Given the description of an element on the screen output the (x, y) to click on. 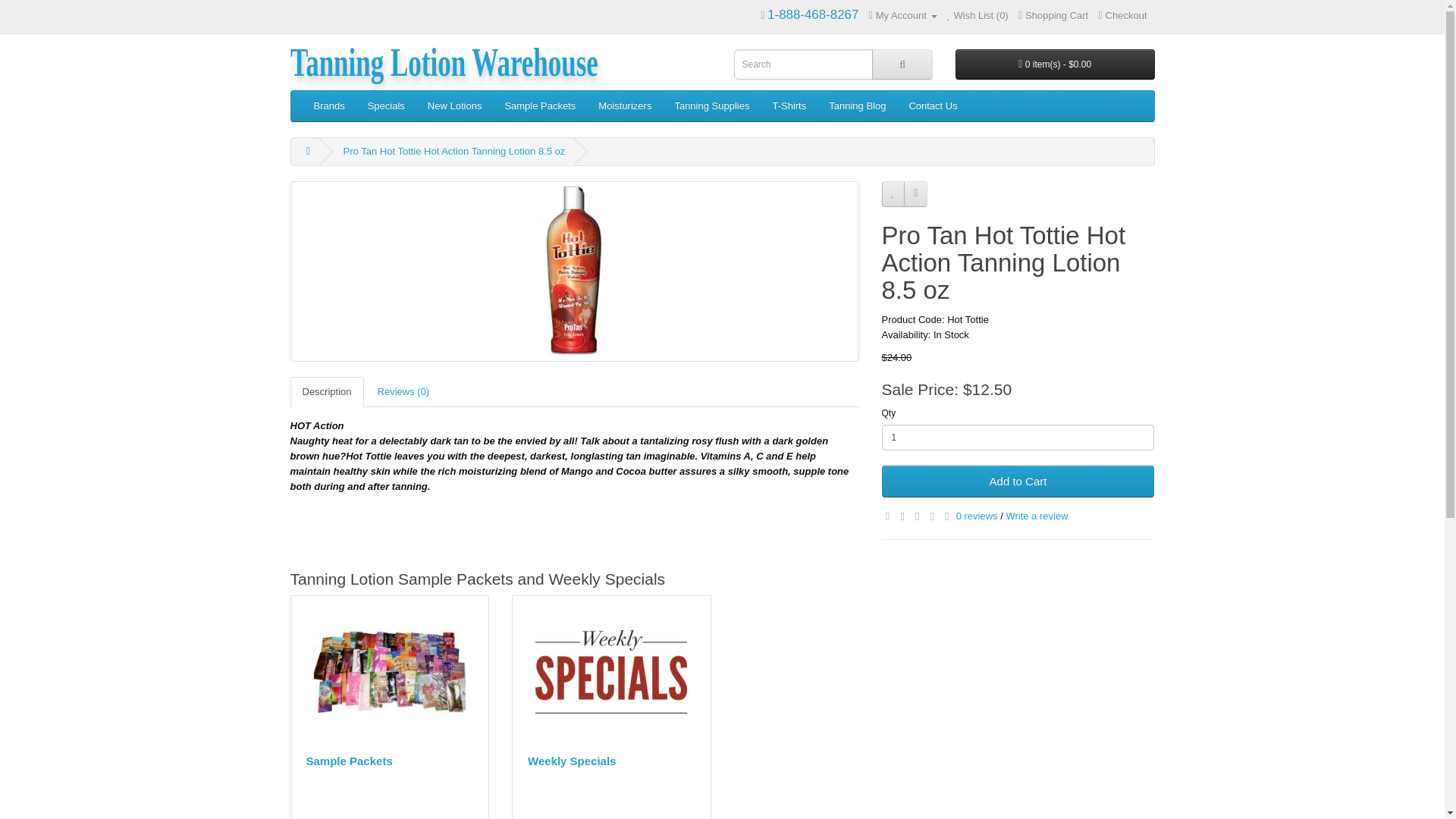
Specials (386, 105)
Weekly Specials (611, 671)
Tanning Lotion Warehouse (442, 55)
Brands (328, 105)
Checkout (1123, 15)
Shopping Cart (1052, 15)
Shopping Cart (1052, 15)
My Account (903, 15)
Pro Tan Hot Tottie Hot Action Tanning Lotion 8.5 oz (574, 271)
Sample Packets (389, 671)
